Given the description of an element on the screen output the (x, y) to click on. 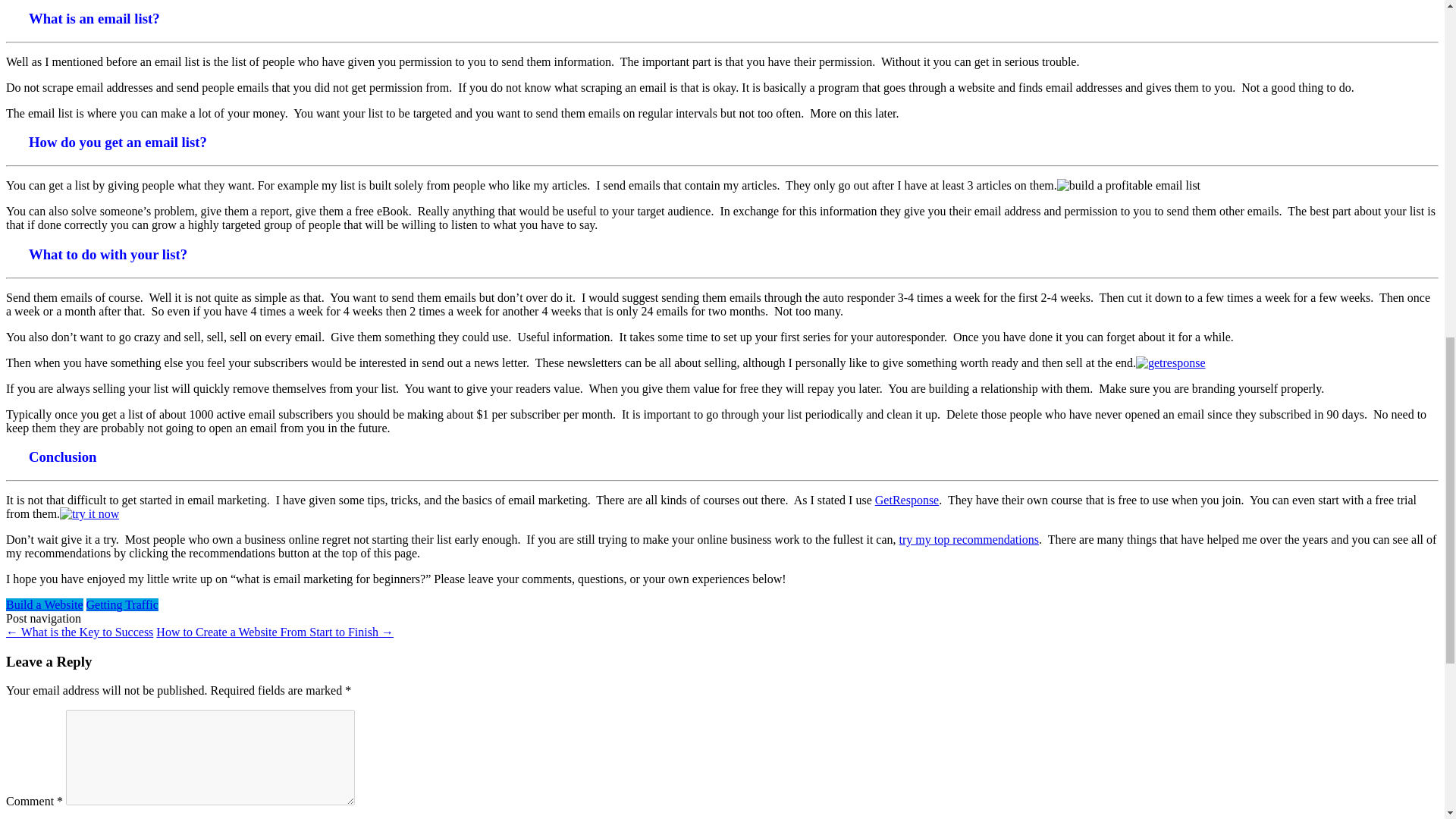
try my top recommendations (969, 539)
Build a Website (43, 604)
GetResponse (907, 499)
Getting Traffic (121, 604)
